Given the description of an element on the screen output the (x, y) to click on. 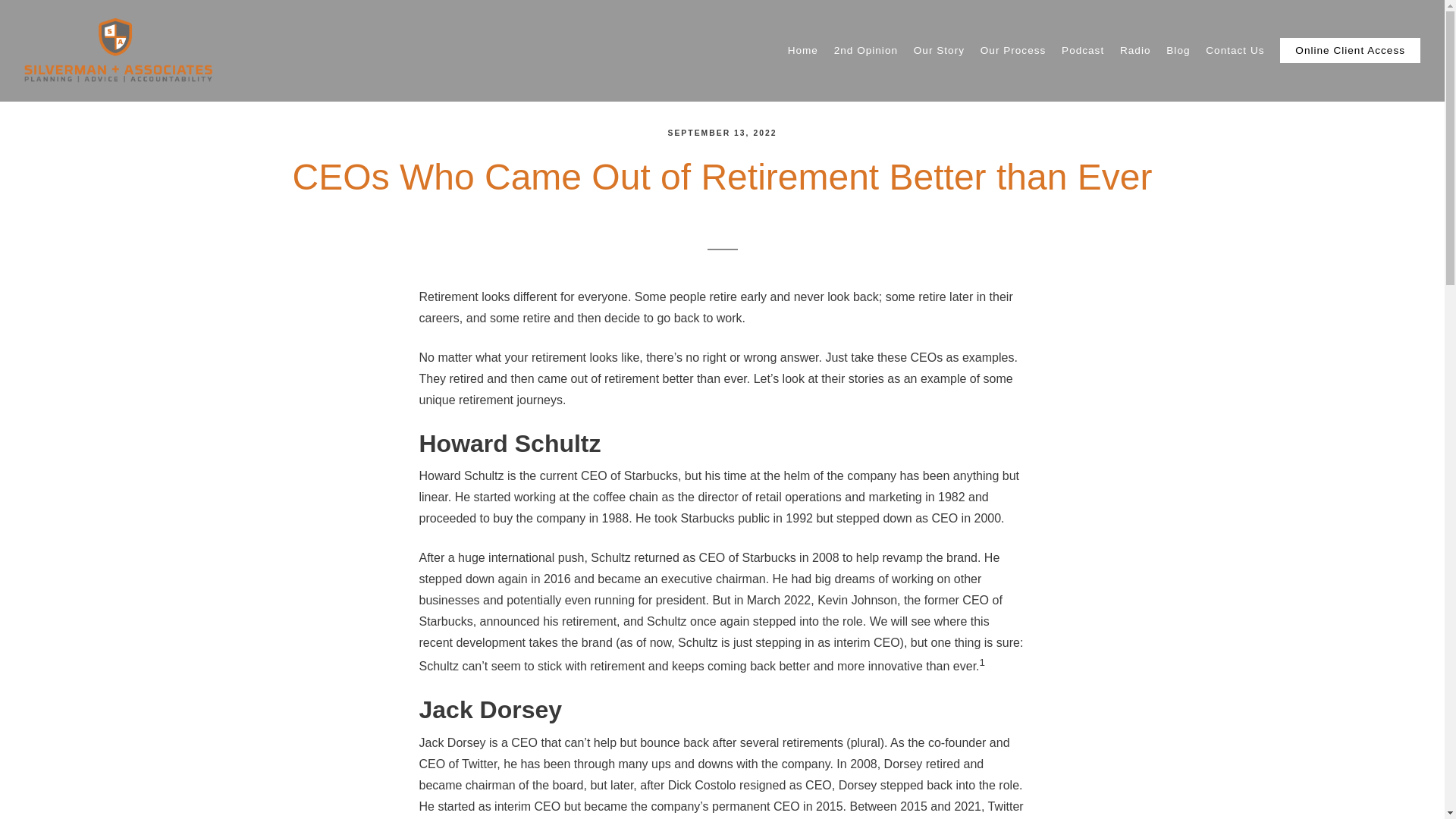
Our Story (938, 51)
Podcast (1082, 51)
Contact Us (1234, 51)
Our Process (1012, 51)
Radio (1135, 51)
Online Client Access (1350, 50)
